Given the description of an element on the screen output the (x, y) to click on. 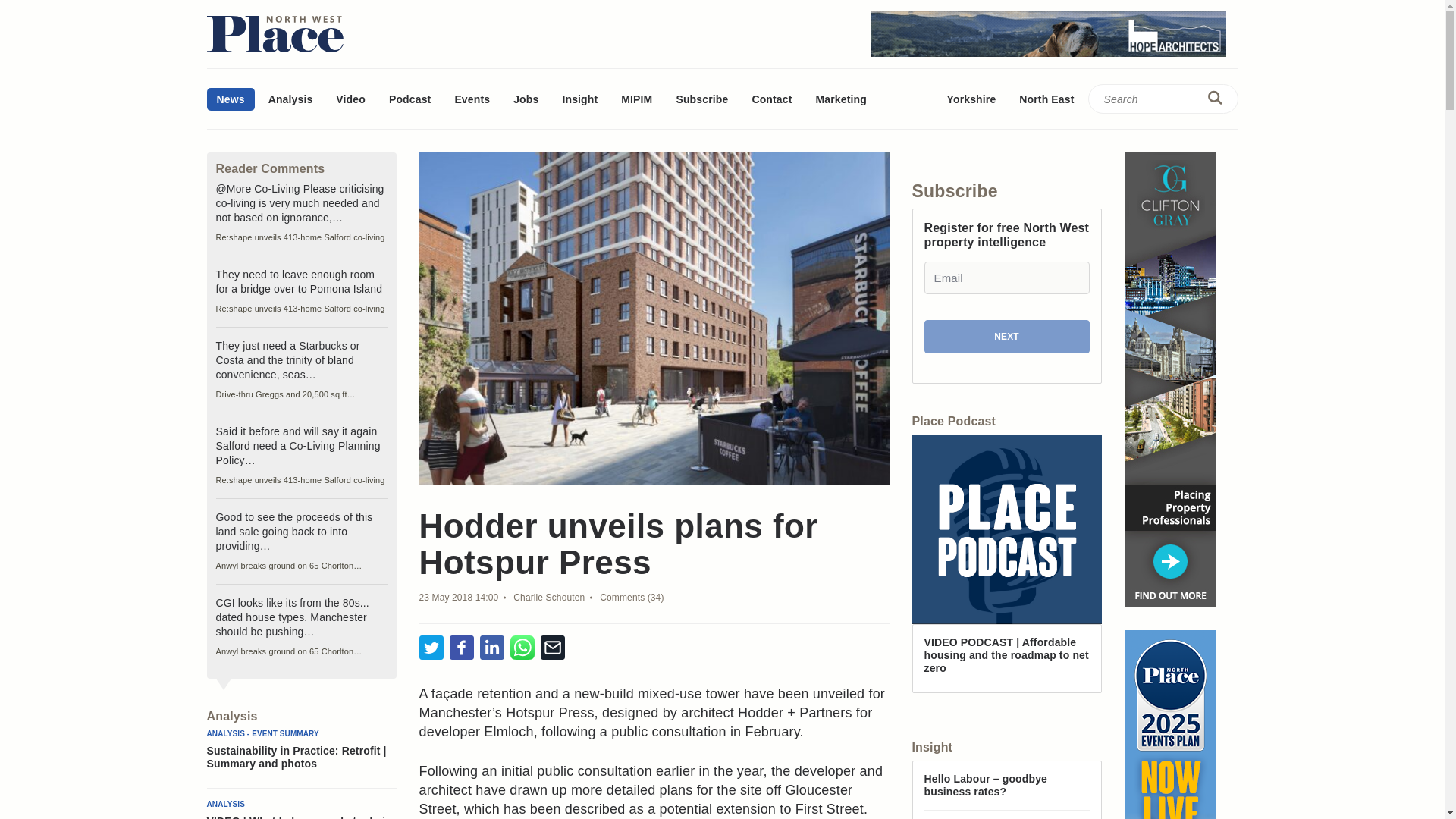
Share by Email (552, 648)
Subscribe (701, 98)
Analysis (291, 98)
Insight (579, 98)
Share on Facebook (460, 648)
Contact (771, 98)
Share on WhatsApp (521, 648)
Share on Twiiter (430, 648)
Podcast (409, 98)
News (229, 98)
Marketing (840, 98)
Yorkshire (971, 98)
Share on LinkedIn (491, 648)
North East (1046, 98)
